Given the description of an element on the screen output the (x, y) to click on. 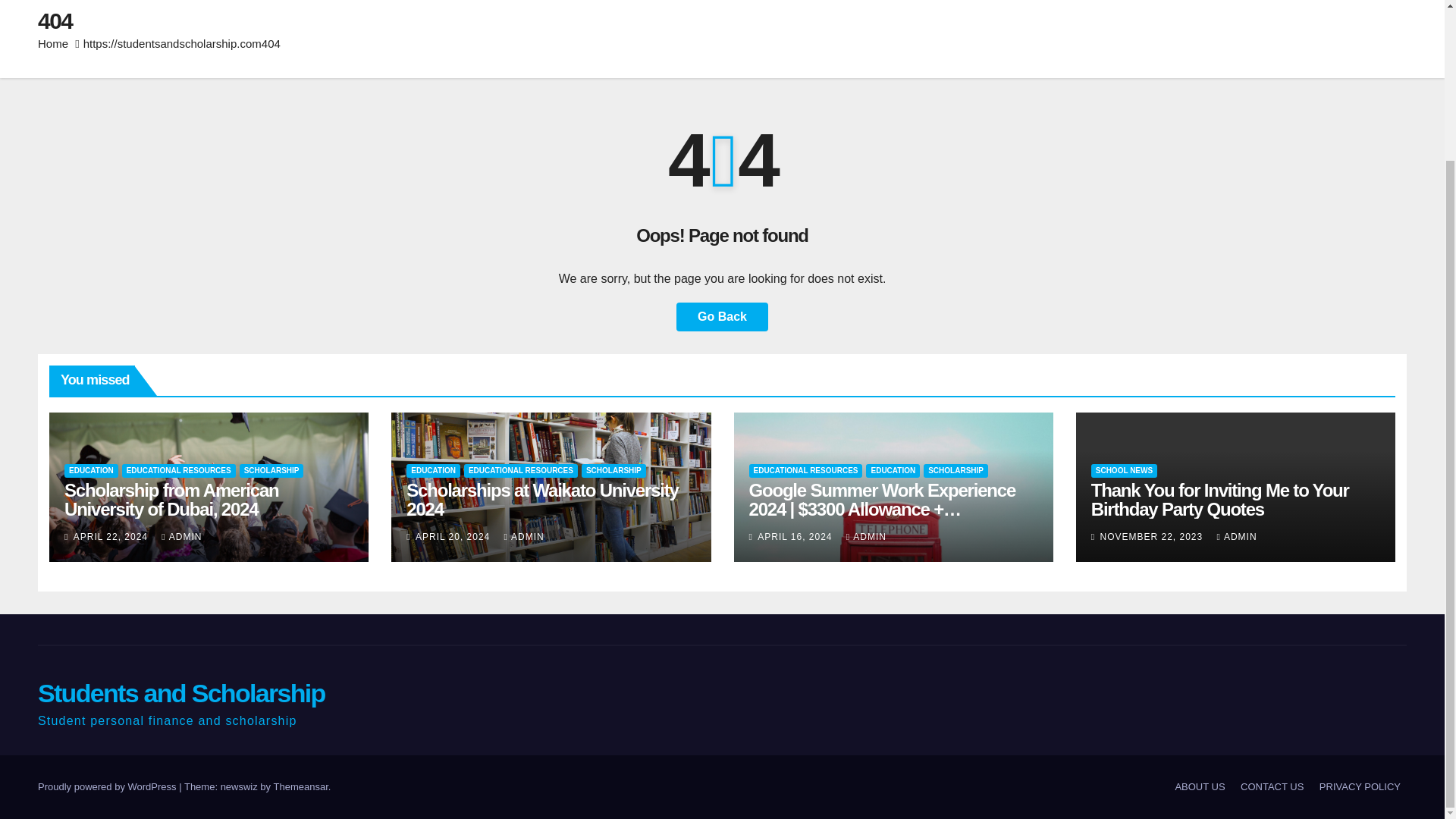
Home (52, 42)
EDUCATION (433, 470)
ADMIN (523, 536)
ABOUT US (1199, 786)
APRIL 20, 2024 (453, 536)
EDUCATIONAL RESOURCES (806, 470)
APRIL 16, 2024 (796, 536)
EDUCATIONAL RESOURCES (178, 470)
SCHOLARSHIP (955, 470)
Permalink to: Scholarships at Waikato University 2024 (542, 499)
Scholarship from American University of Dubai, 2024 (171, 499)
PRIVACY POLICY (1359, 786)
EDUCATIONAL RESOURCES (521, 470)
ADMIN (865, 536)
